Given the description of an element on the screen output the (x, y) to click on. 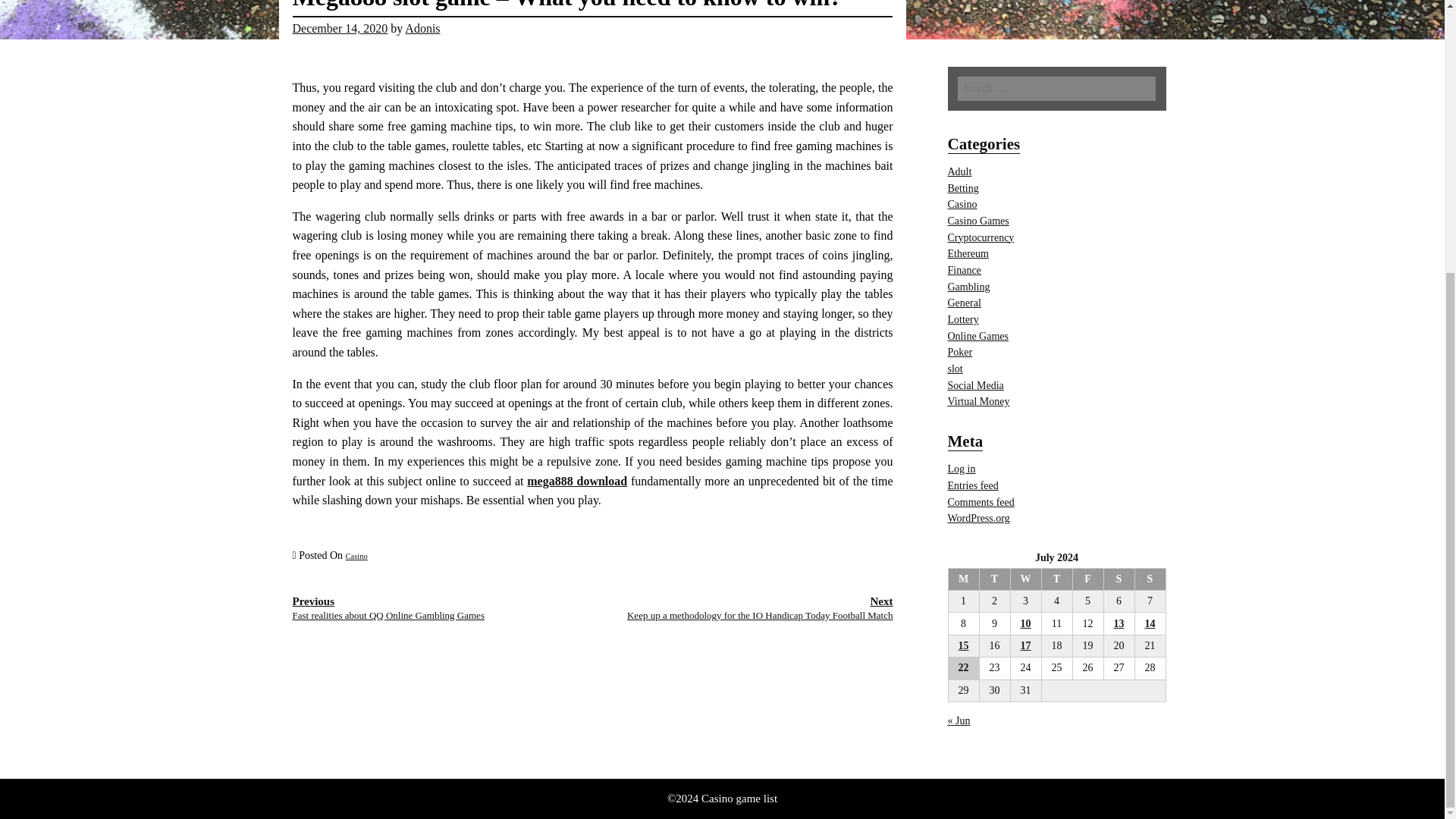
Friday (1087, 578)
Lottery (962, 319)
Casino (357, 556)
Virtual Money (978, 401)
Casino (961, 204)
Wednesday (1025, 578)
Casino Games (978, 220)
Poker (959, 351)
Adult (959, 171)
Log in (961, 469)
Sunday (1150, 578)
Adonis (421, 28)
Cryptocurrency (980, 237)
Thursday (1056, 578)
14 (1150, 623)
